Given the description of an element on the screen output the (x, y) to click on. 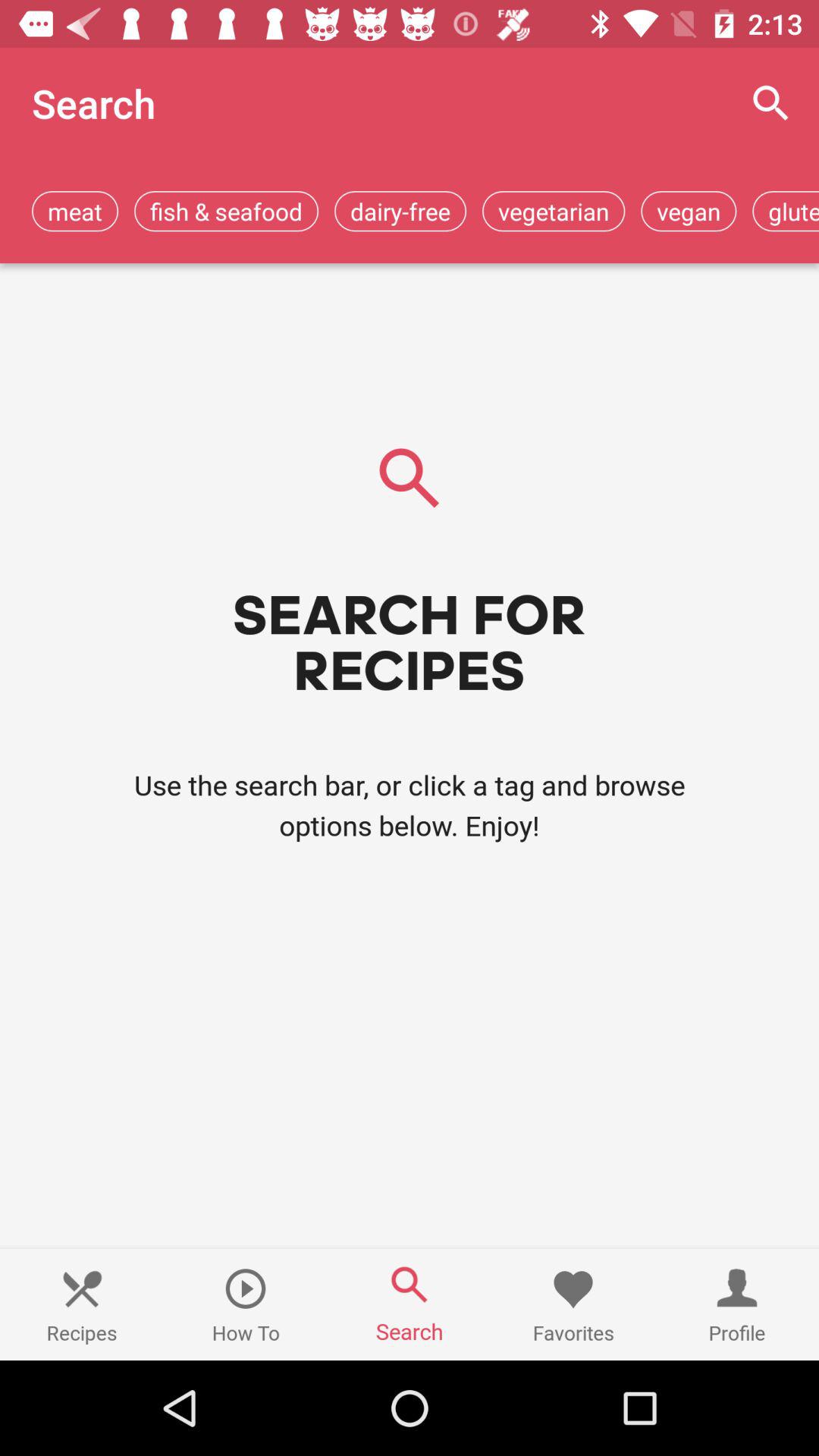
press item below search (226, 211)
